Given the description of an element on the screen output the (x, y) to click on. 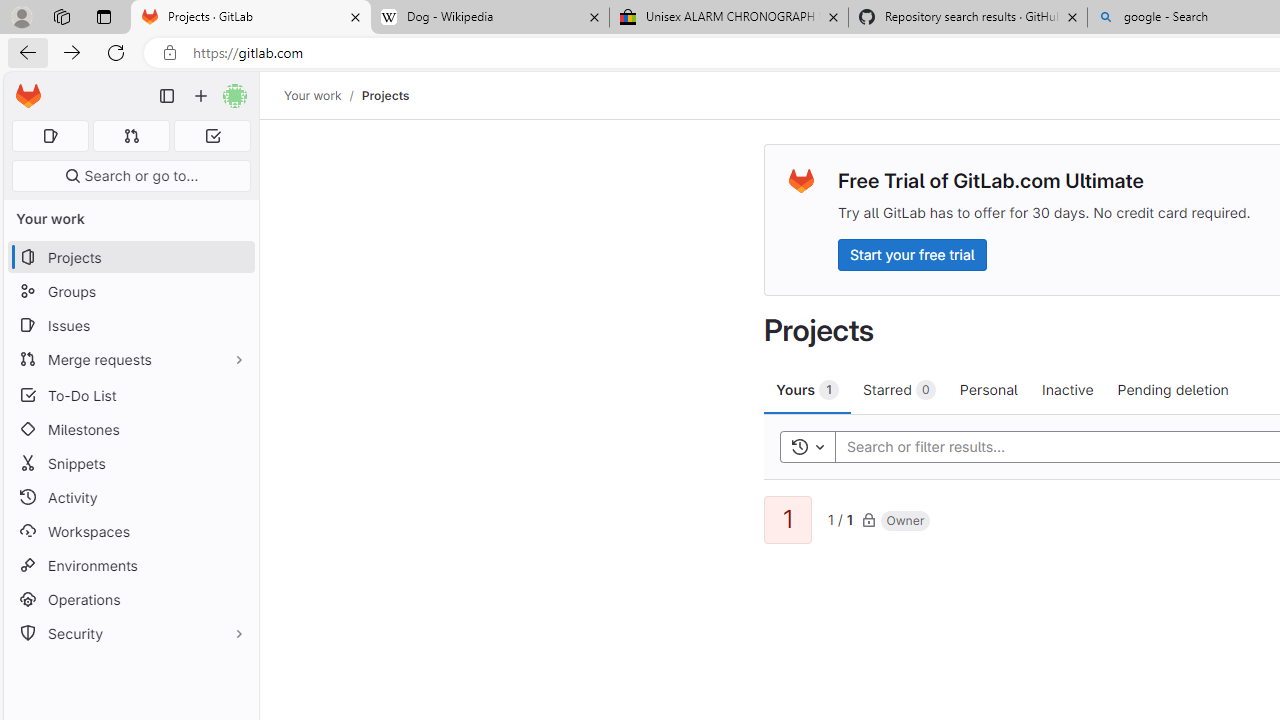
Class: s16 (868, 519)
Activity (130, 497)
1 / 1 (840, 518)
Activity (130, 497)
Projects (384, 95)
Your work (312, 95)
Pending deletion (1172, 389)
Create new... (201, 96)
Issues (130, 325)
Homepage (27, 96)
Skip to main content (23, 87)
